Given the description of an element on the screen output the (x, y) to click on. 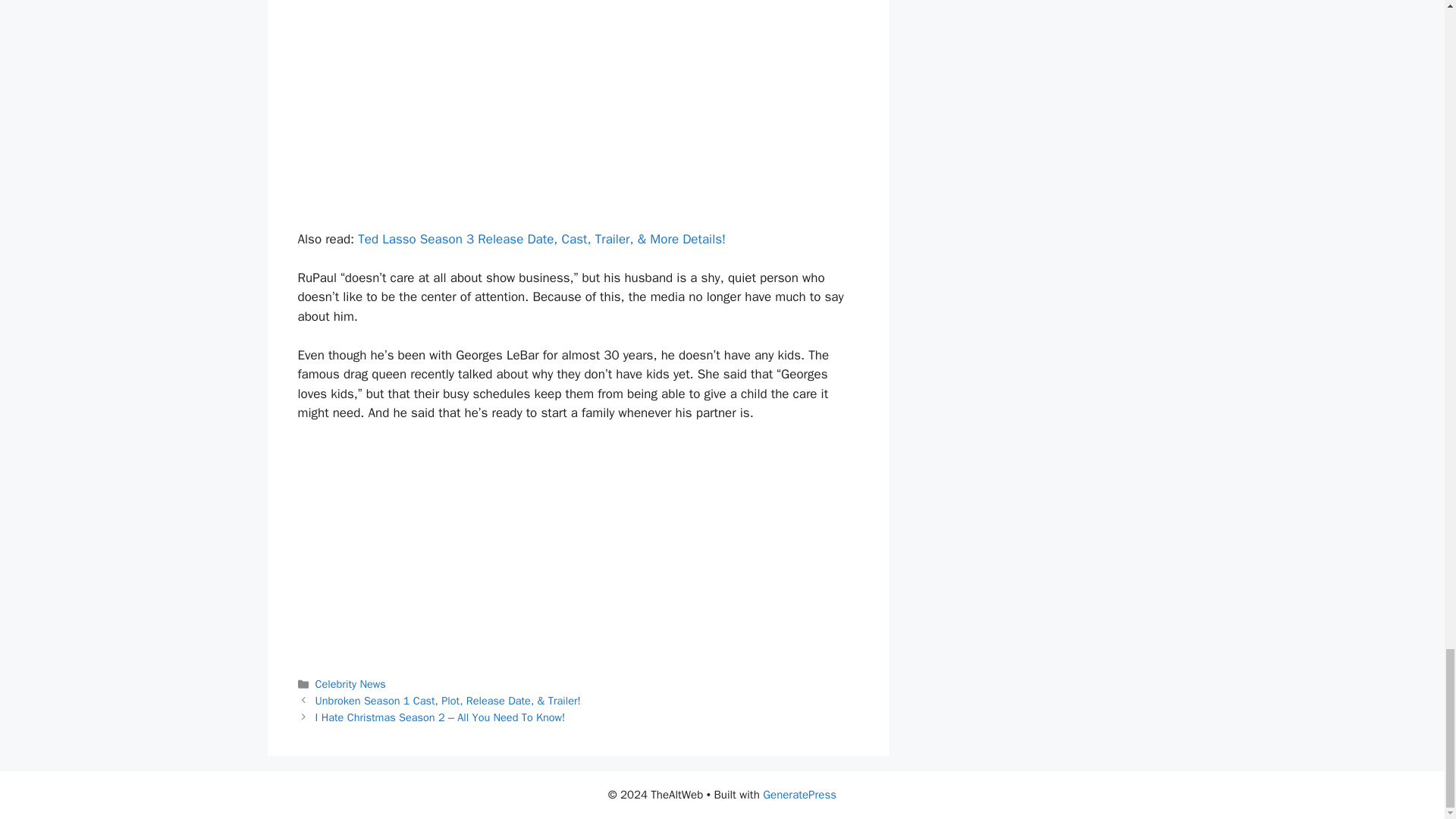
Next (440, 716)
Celebrity News (350, 684)
Previous (447, 700)
